Given the description of an element on the screen output the (x, y) to click on. 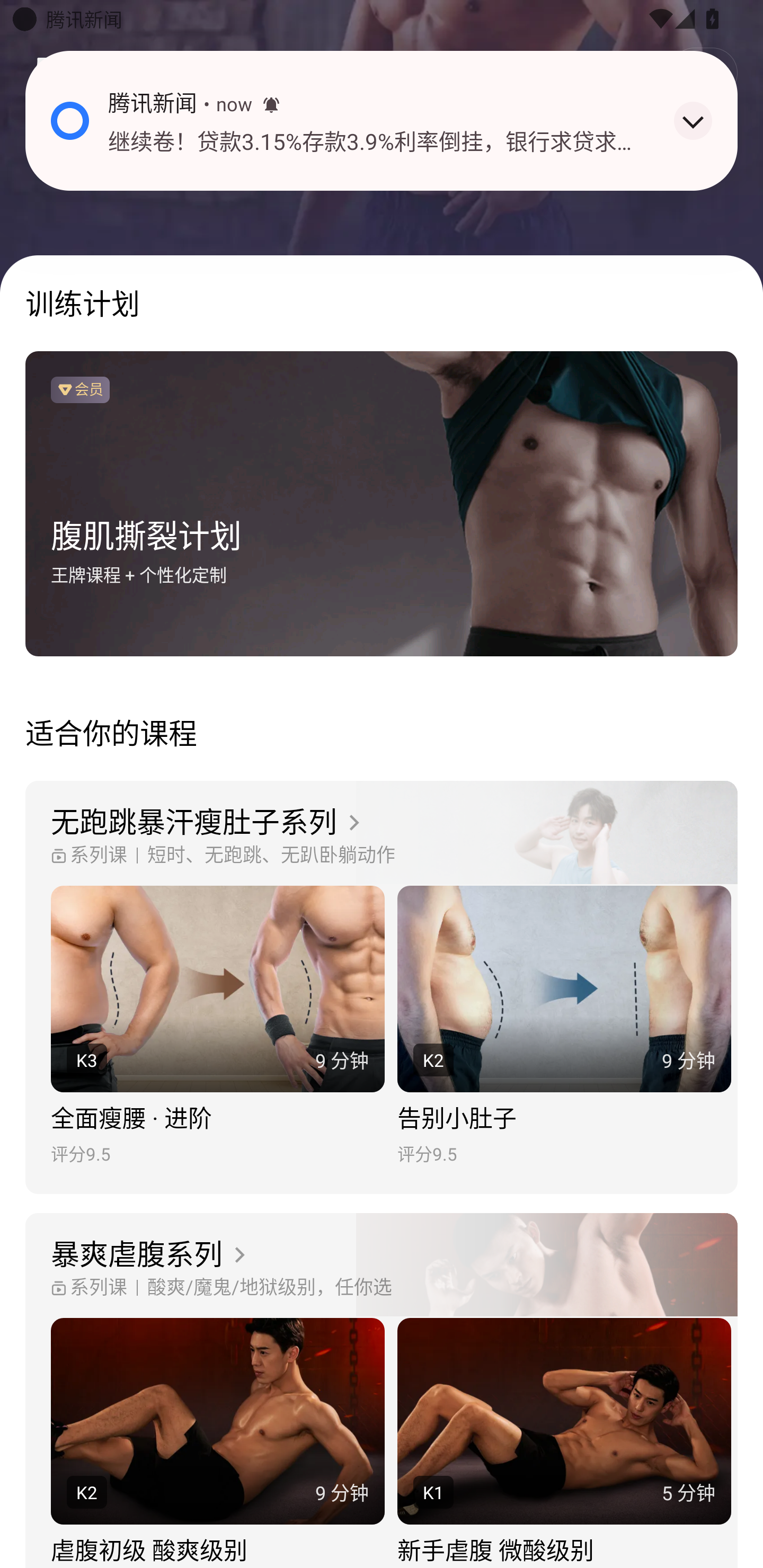
会员 腹肌撕裂计划 王牌课程 + 个性化定制 (381, 503)
无跑跳暴汗瘦肚子系列 系列课 短时、无跑跳、无趴卧躺动作 (381, 832)
K3 9 分钟 全面瘦腰 · 进阶 评分9.5 (217, 1025)
K2 9 分钟 告别小肚子 评分9.5 (563, 1025)
暴爽虐腹系列 系列课 酸爽/魔鬼/地狱级别，任你选 (381, 1265)
K2 9 分钟 虐腹初级 酸爽级别 (217, 1443)
K1 5 分钟 新手虐腹 微酸级别 (563, 1443)
